Given the description of an element on the screen output the (x, y) to click on. 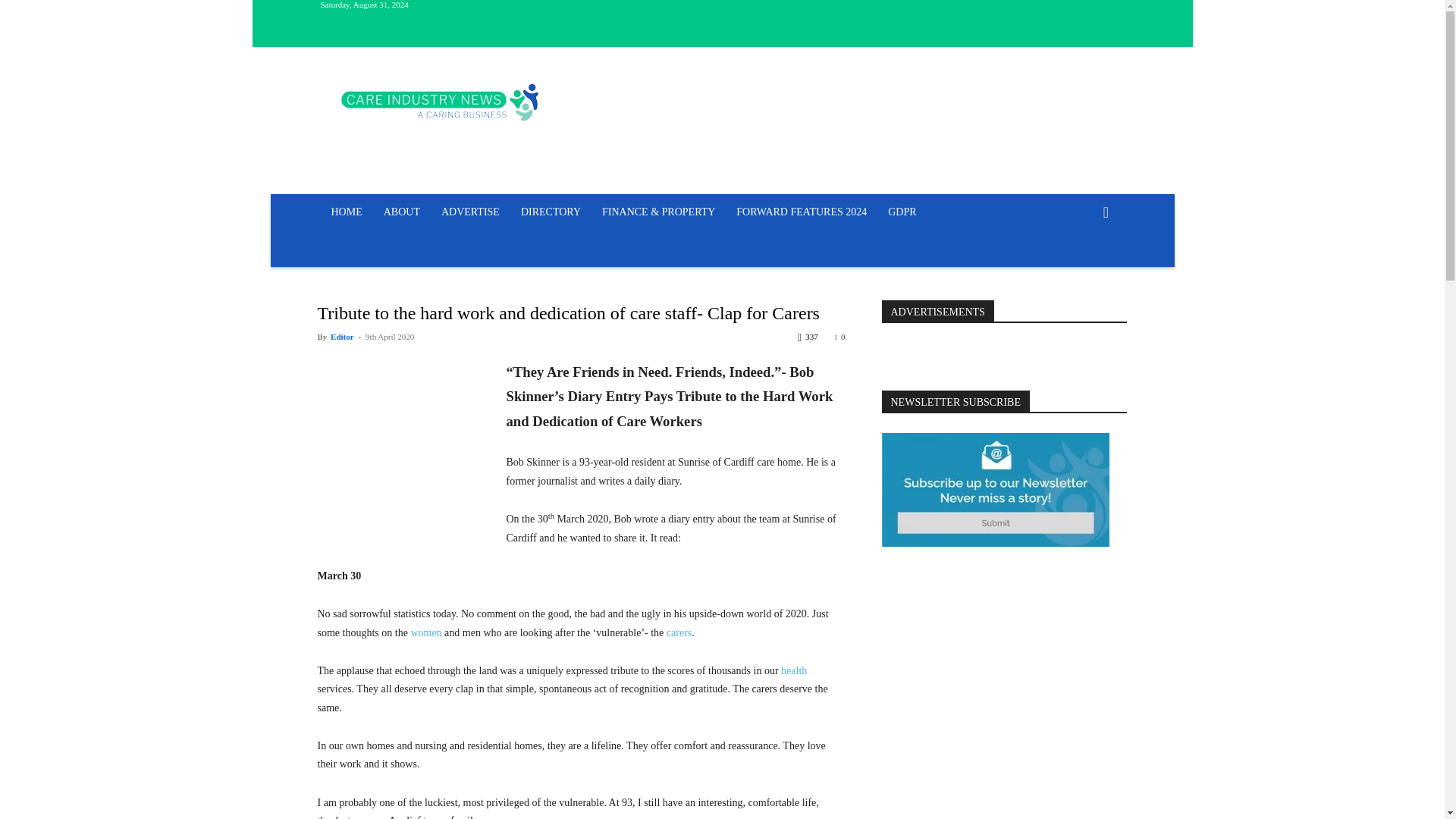
DIRECTORY (551, 212)
ADVERTISE (470, 212)
carers (678, 632)
ABOUT (401, 212)
Care Industry News (439, 101)
GDPR (901, 212)
FORWARD FEATURES 2024 (801, 212)
women (425, 632)
Editor (341, 336)
0 (839, 336)
